Given the description of an element on the screen output the (x, y) to click on. 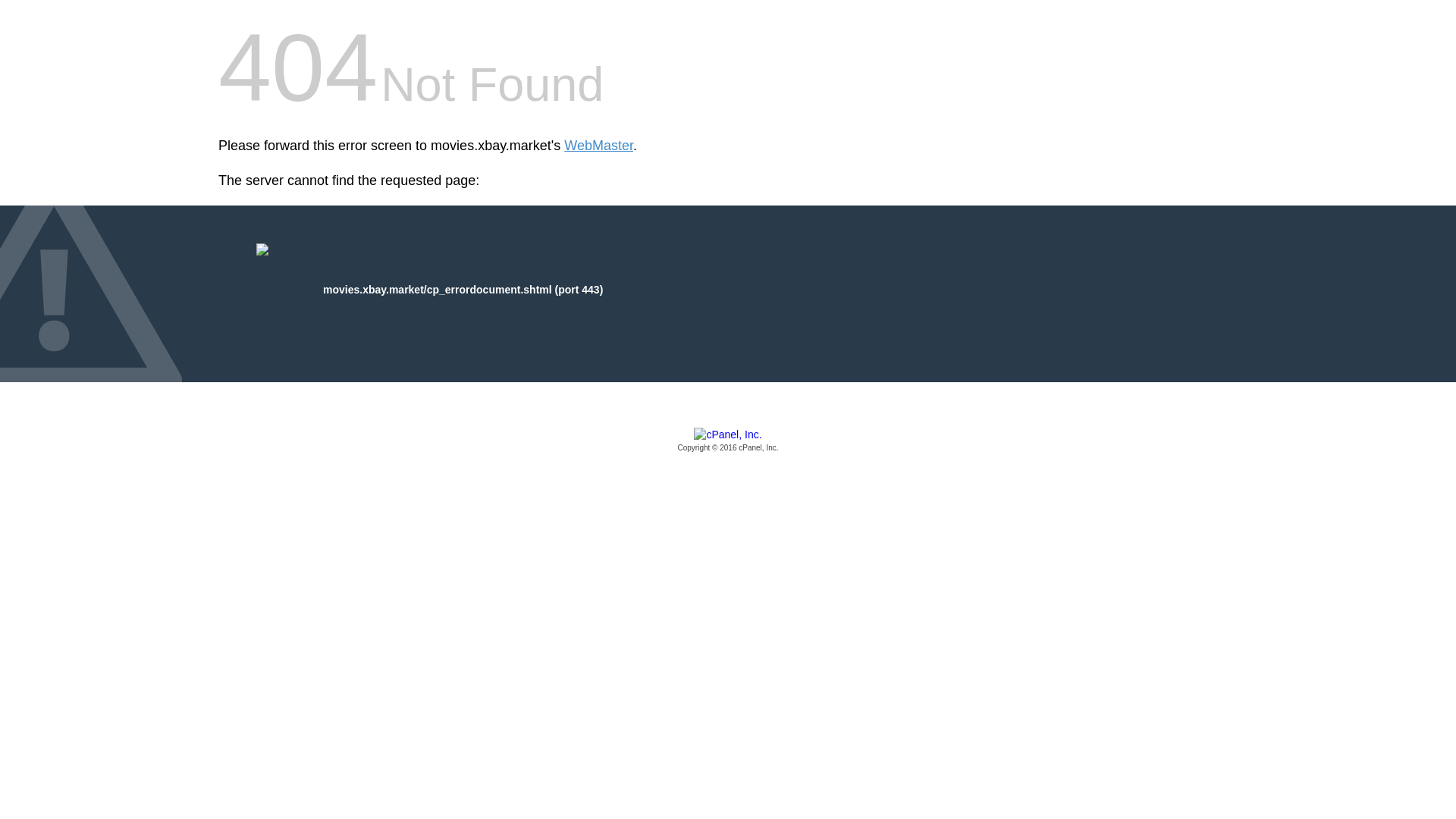
cPanel, Inc. (727, 440)
WebMaster (598, 145)
